Given the description of an element on the screen output the (x, y) to click on. 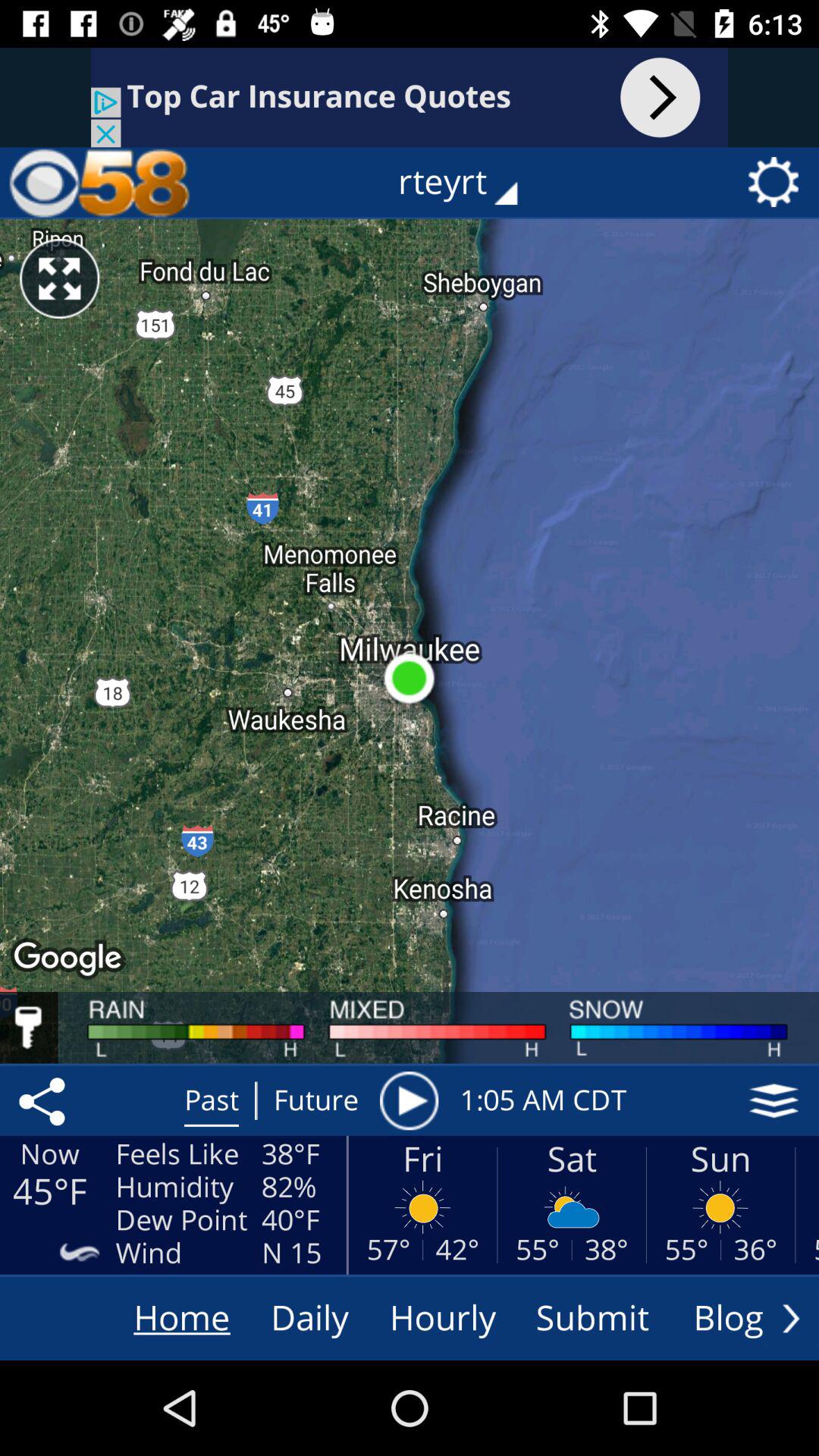
see more commands (791, 1318)
